Given the description of an element on the screen output the (x, y) to click on. 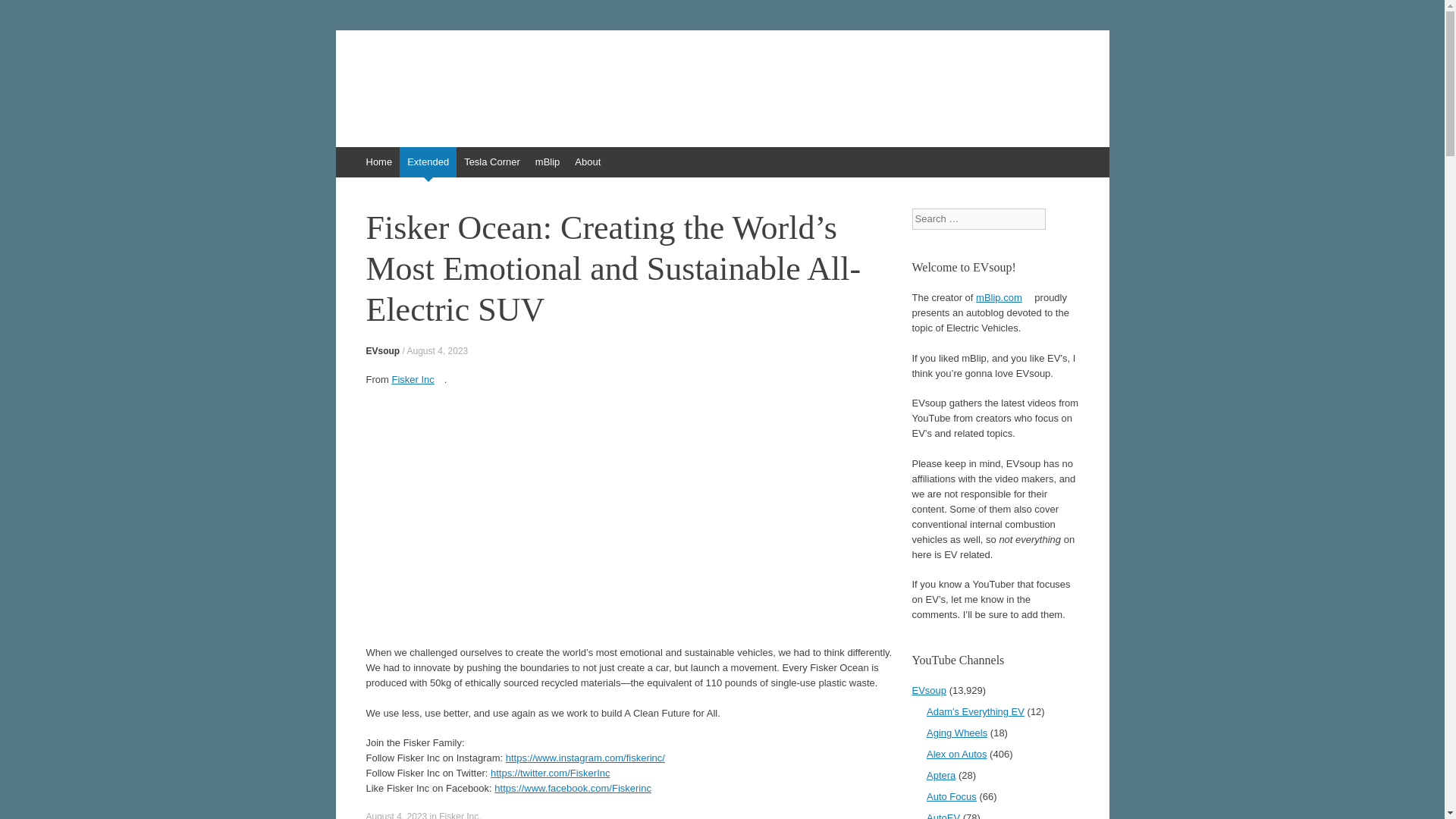
EVsoup (406, 80)
EVsoup (381, 350)
Tesla Corner (492, 162)
Fisker Inc (417, 378)
Search (23, 15)
Skip to content (342, 154)
August 4, 2023 (437, 350)
August 4, 2023 (395, 815)
Home (378, 162)
Aptera (940, 775)
